Given the description of an element on the screen output the (x, y) to click on. 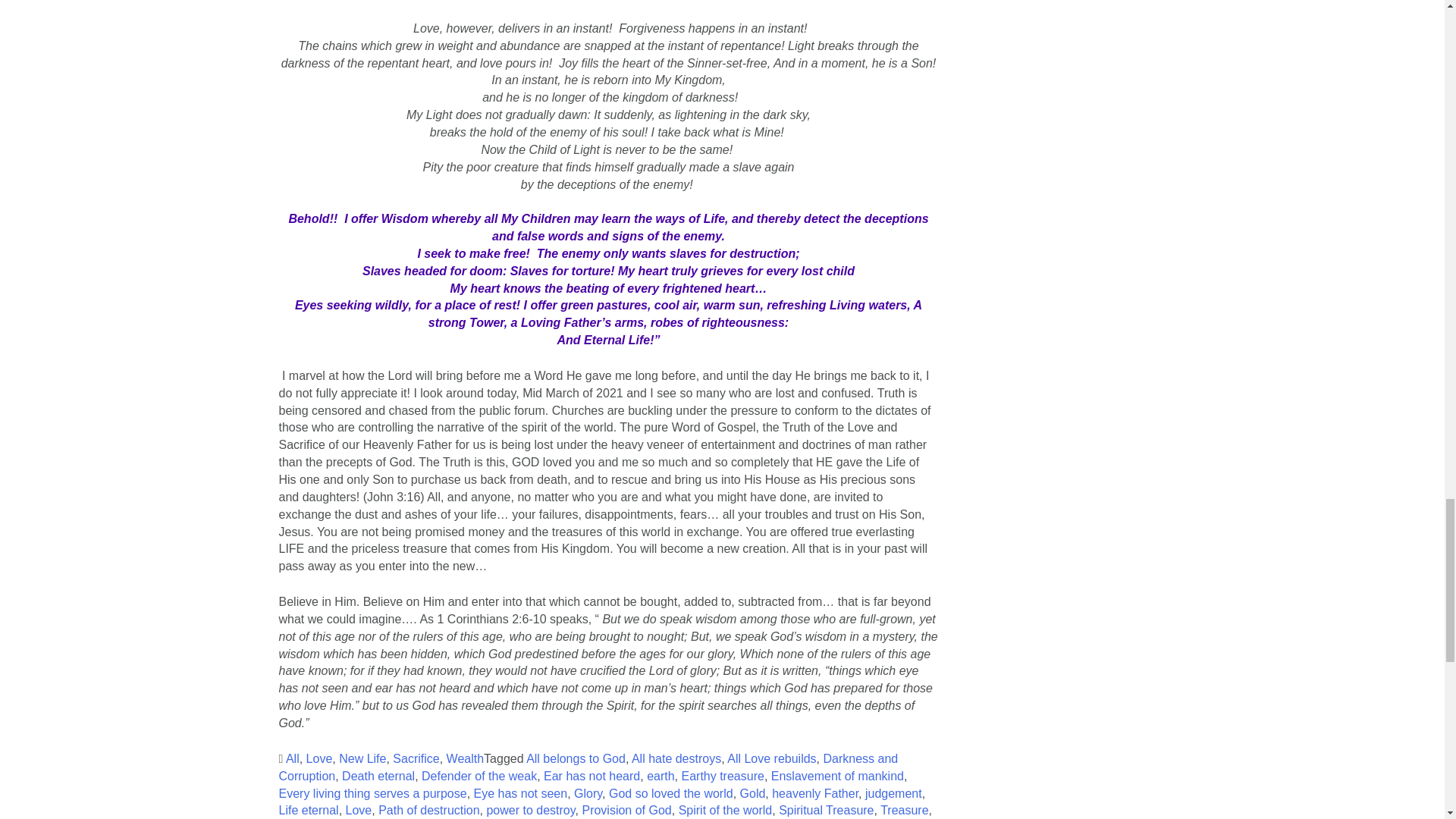
earth (660, 775)
Darkness and Corruption (588, 767)
All Love rebuilds (770, 758)
Spirit of the world (725, 809)
Defender of the weak (479, 775)
All hate destroys (675, 758)
Every living thing serves a purpose (373, 793)
Death eternal (378, 775)
Enslavement of mankind (837, 775)
New Life (362, 758)
Love (319, 758)
Glory (587, 793)
Sacrifice (416, 758)
Ear has not heard (591, 775)
Wealth (465, 758)
